Given the description of an element on the screen output the (x, y) to click on. 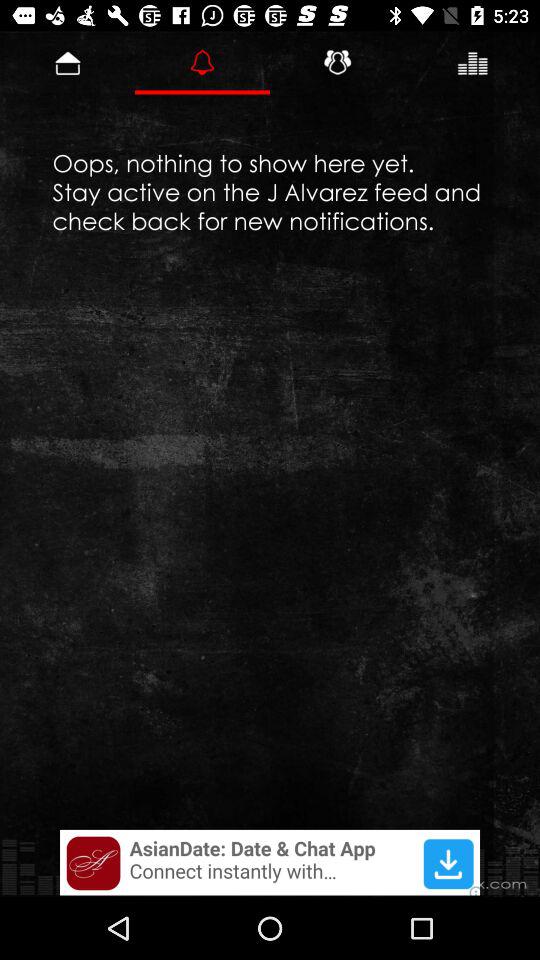
click advertisement (270, 862)
